Given the description of an element on the screen output the (x, y) to click on. 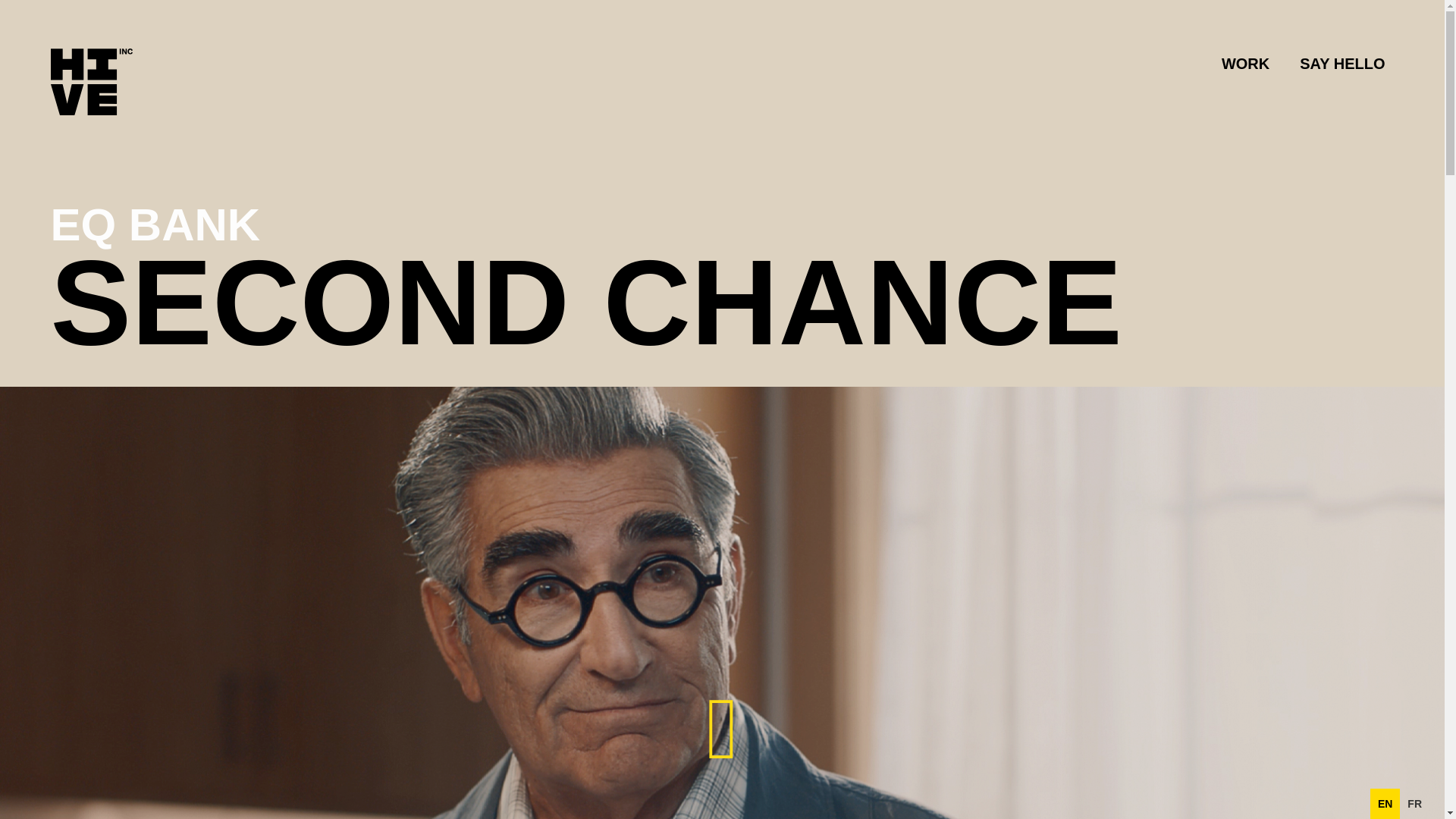
SAY HELLO (1341, 63)
WORK (1245, 63)
